Given the description of an element on the screen output the (x, y) to click on. 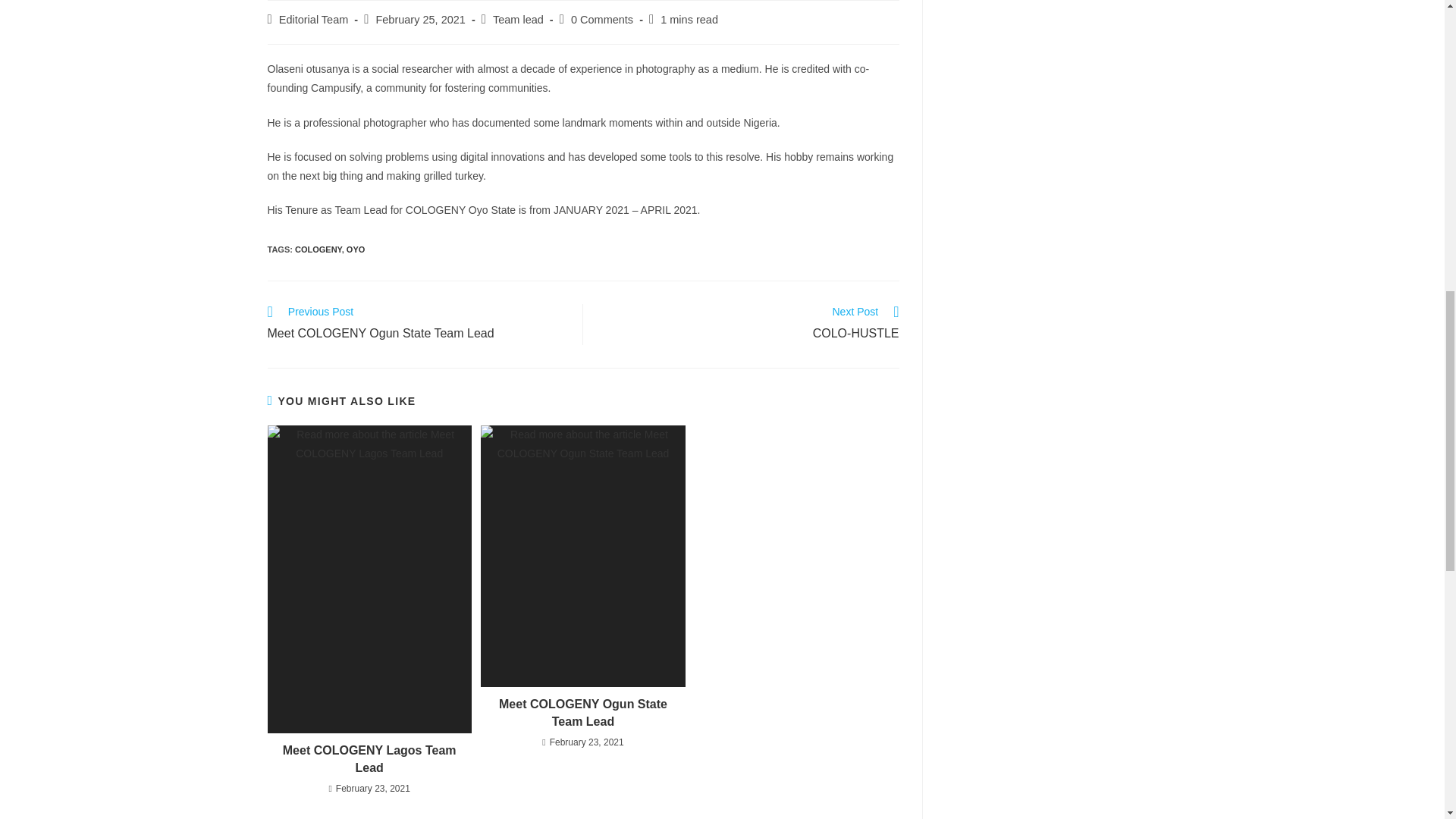
COLOGENY (318, 248)
0 Comments (601, 19)
Team lead (518, 19)
Posts by Editorial Team (314, 19)
Editorial Team (314, 19)
